Given the description of an element on the screen output the (x, y) to click on. 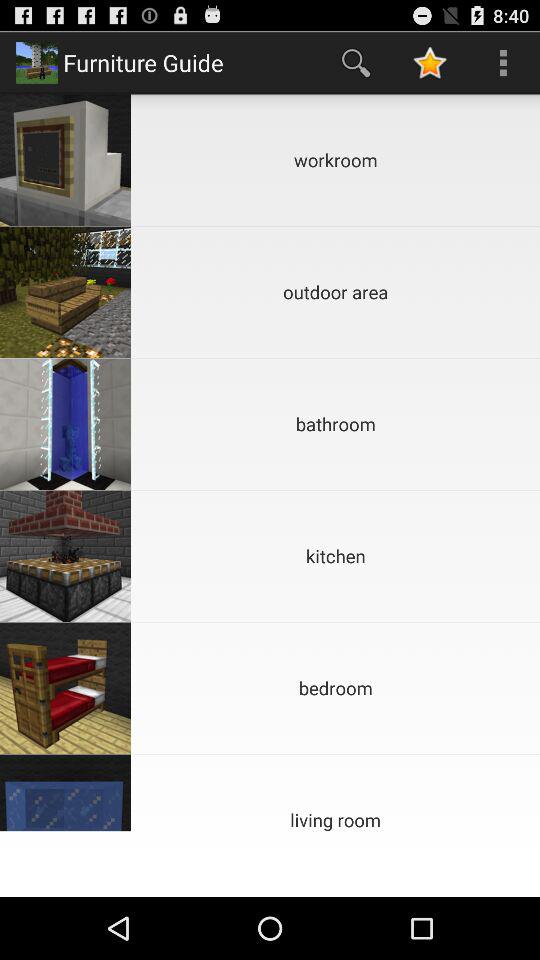
jump to the outdoor area (335, 291)
